Given the description of an element on the screen output the (x, y) to click on. 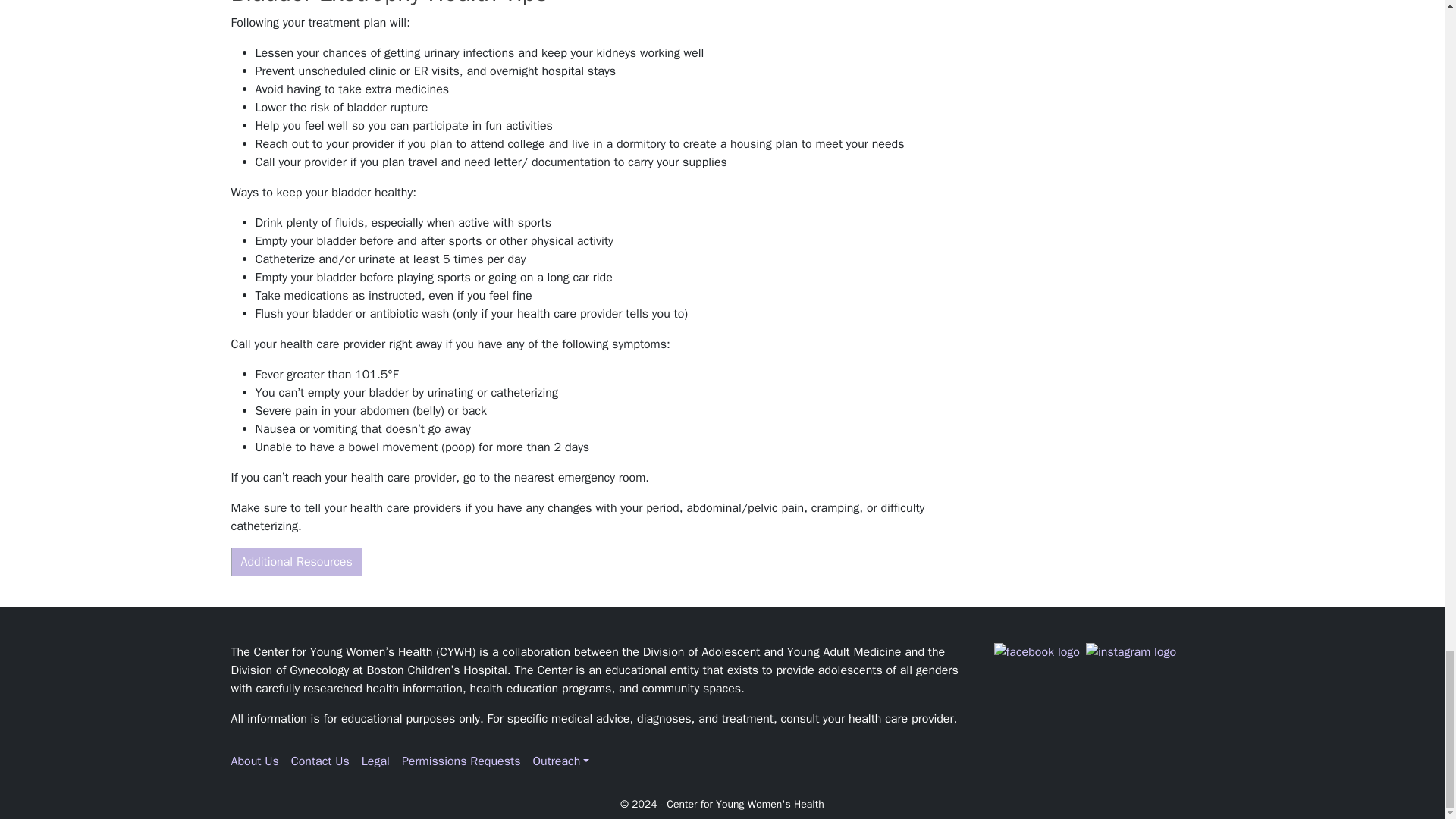
Additional Resources (295, 561)
